Given the description of an element on the screen output the (x, y) to click on. 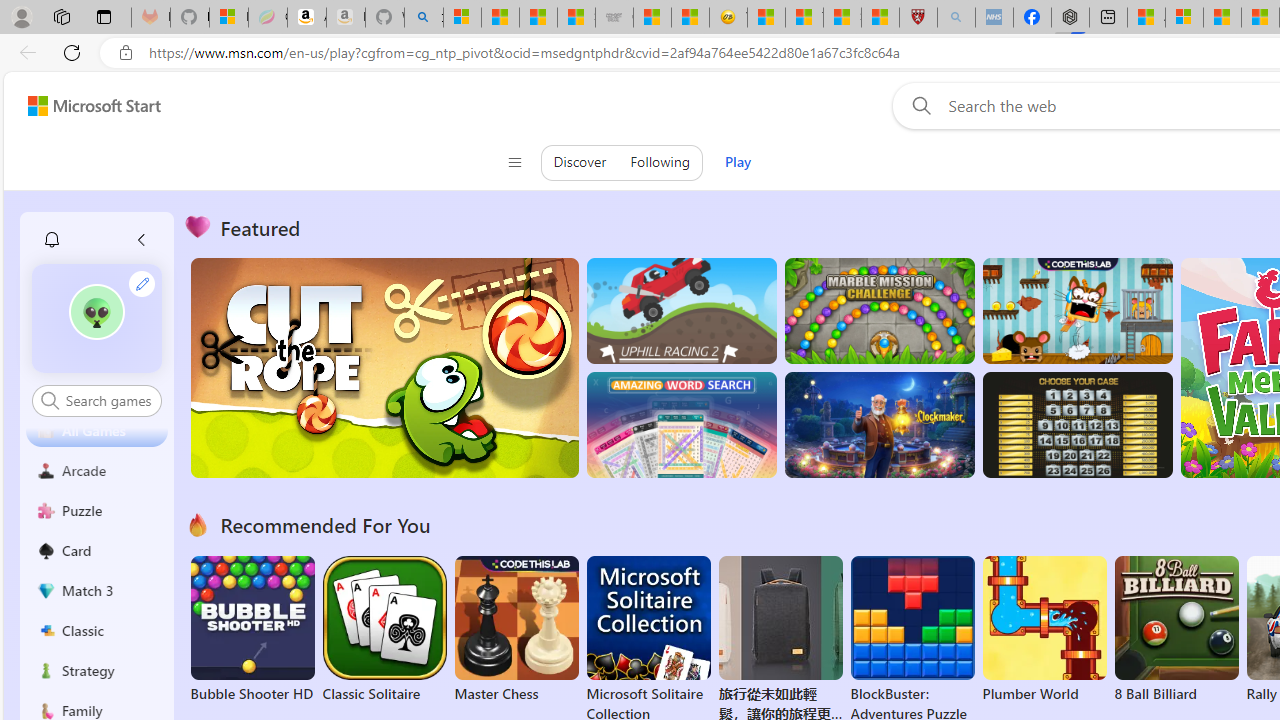
Play (737, 161)
Class: search-icon (50, 400)
